Given the description of an element on the screen output the (x, y) to click on. 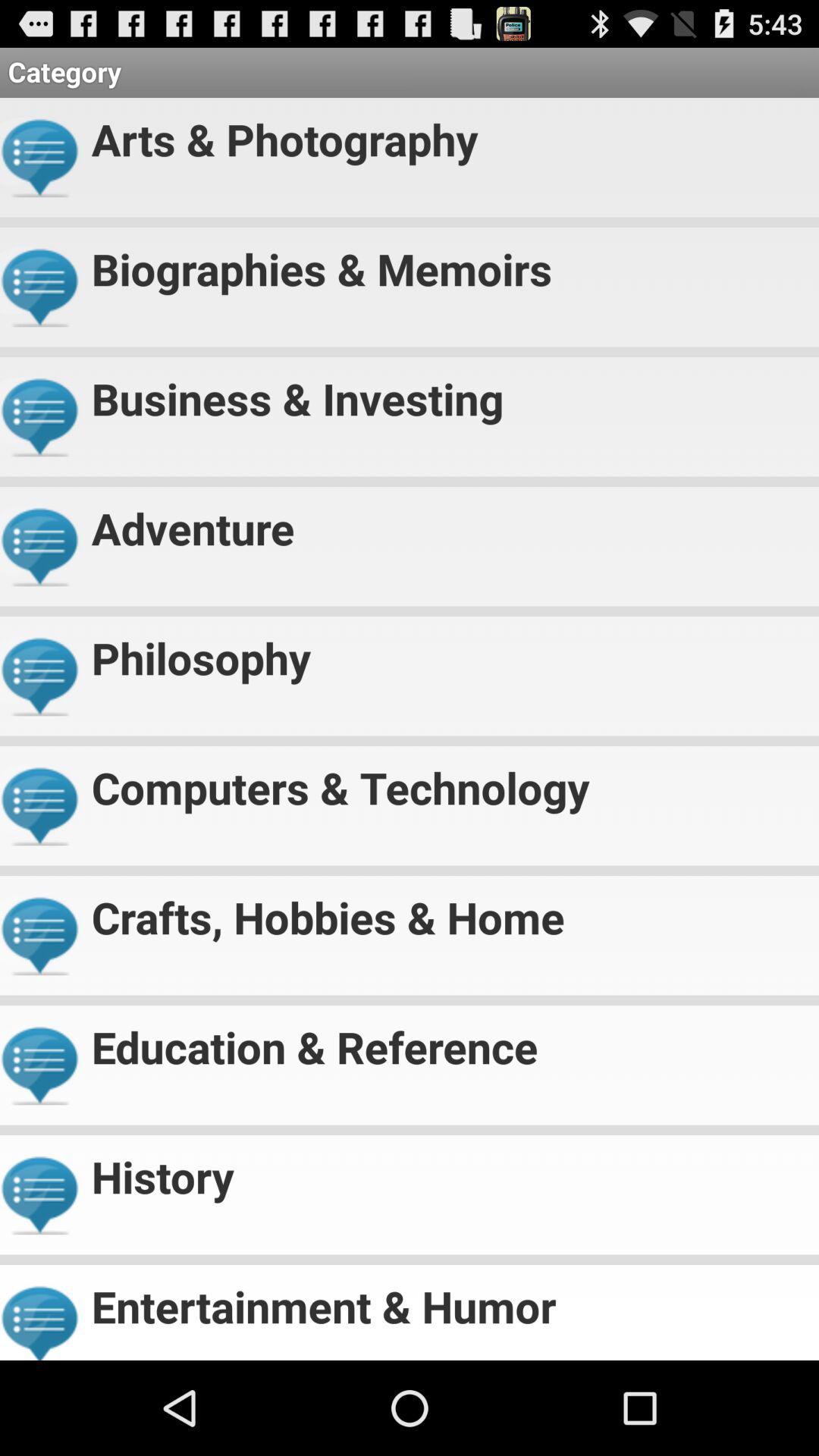
launch history item (449, 1170)
